Given the description of an element on the screen output the (x, y) to click on. 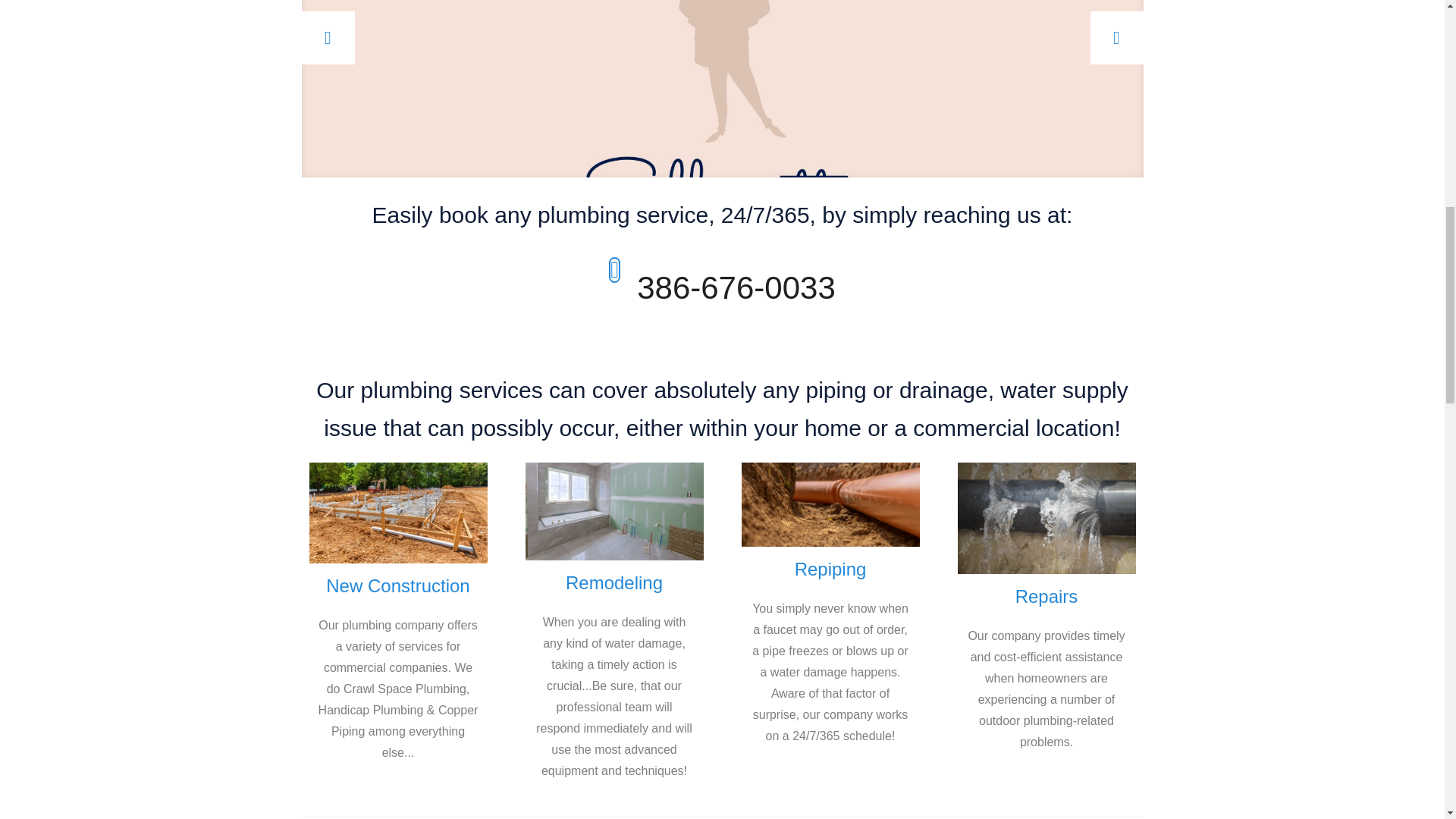
Repairs (1046, 596)
Repiping (830, 568)
Remodeling (614, 582)
386-676-0033 (736, 287)
New Construction (397, 585)
